Given the description of an element on the screen output the (x, y) to click on. 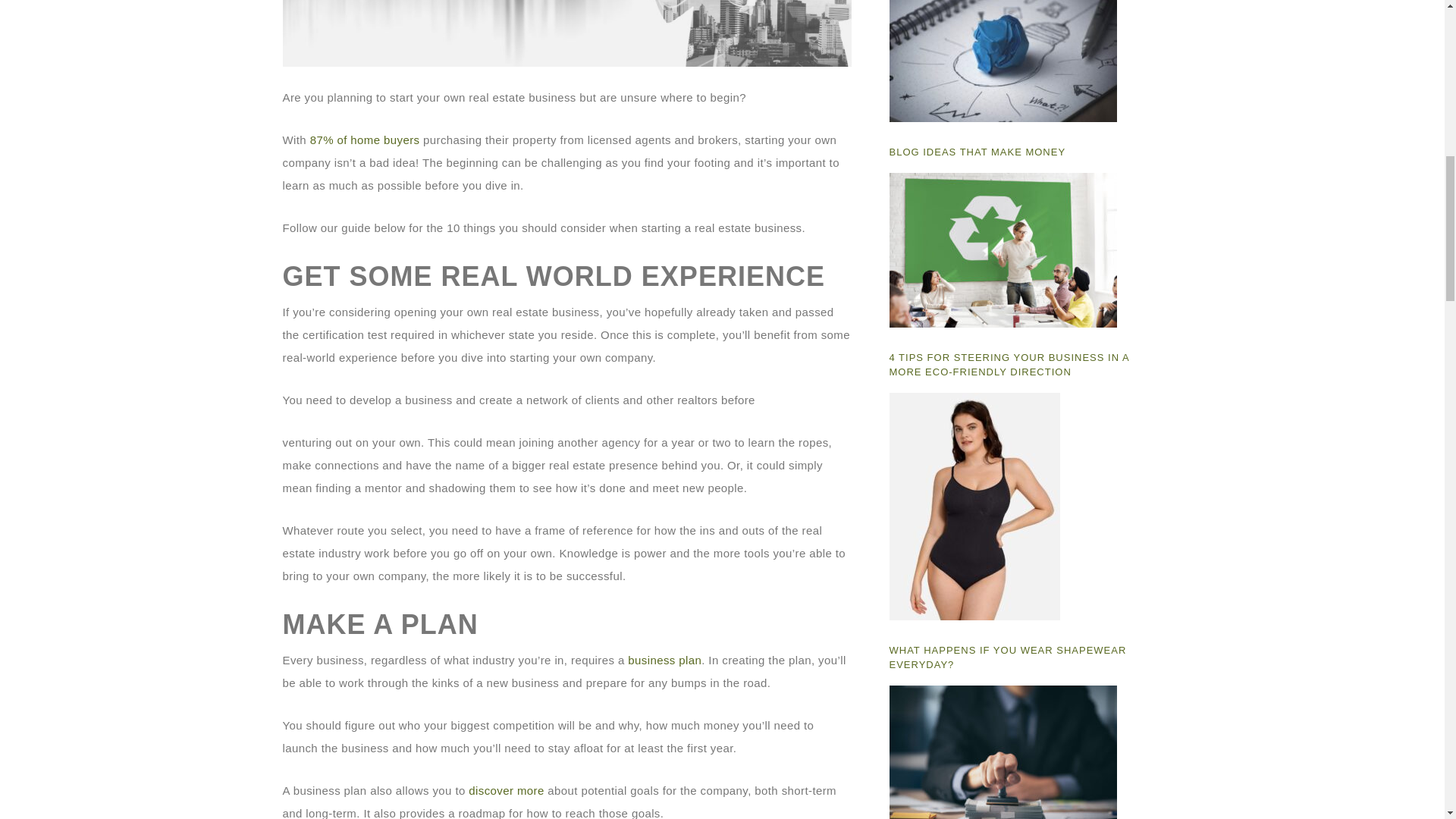
BLOG IDEAS THAT MAKE MONEY (976, 152)
discover more (505, 789)
WHAT HAPPENS IF YOU WEAR SHAPEWEAR EVERYDAY? (1006, 657)
business plan (664, 659)
